Given the description of an element on the screen output the (x, y) to click on. 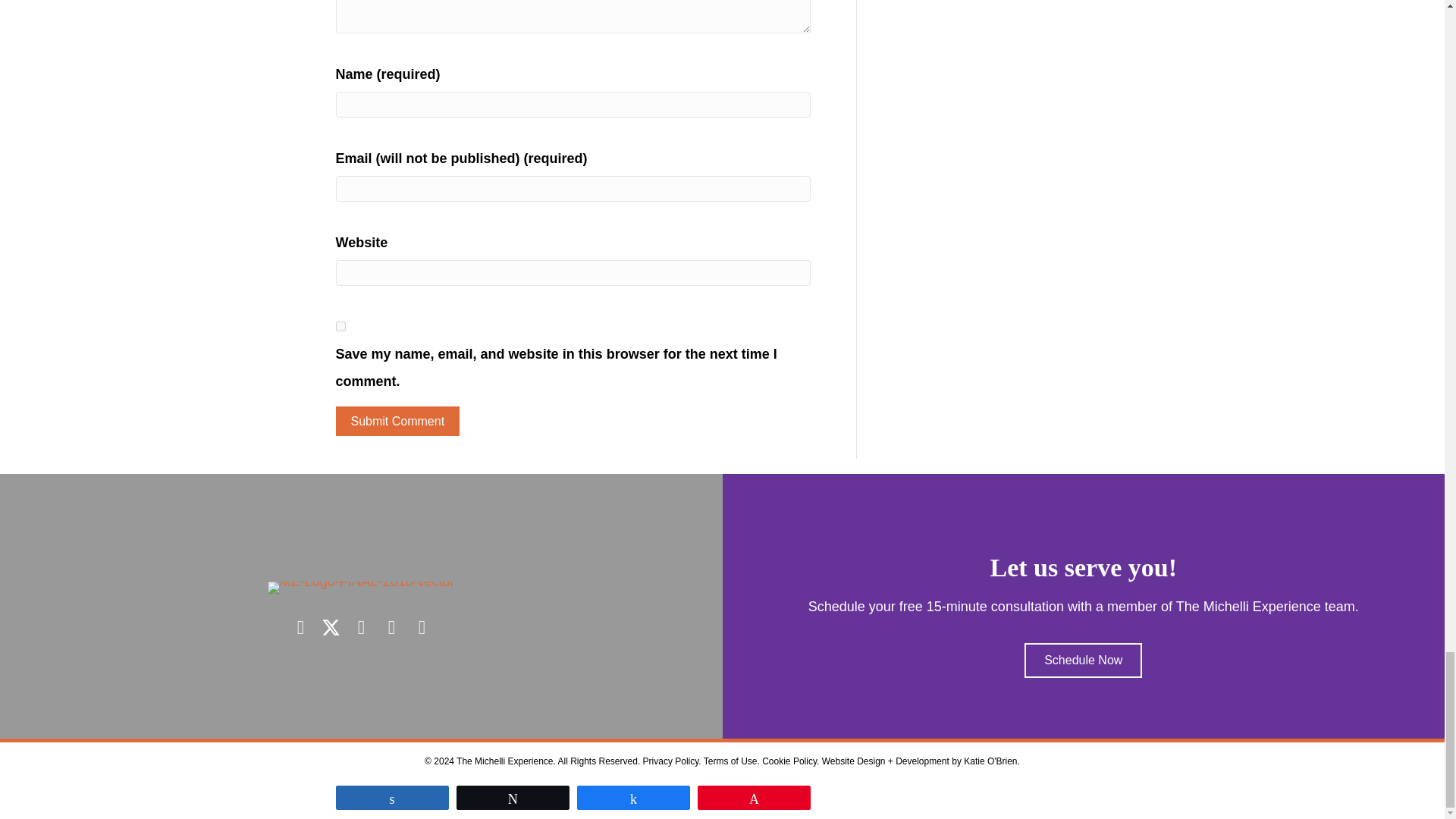
ME-Logo-FINAL-2018-vector (360, 587)
Submit Comment (397, 420)
Submit Comment (397, 420)
Click Here (1083, 660)
yes (339, 326)
Facebook (299, 627)
